Given the description of an element on the screen output the (x, y) to click on. 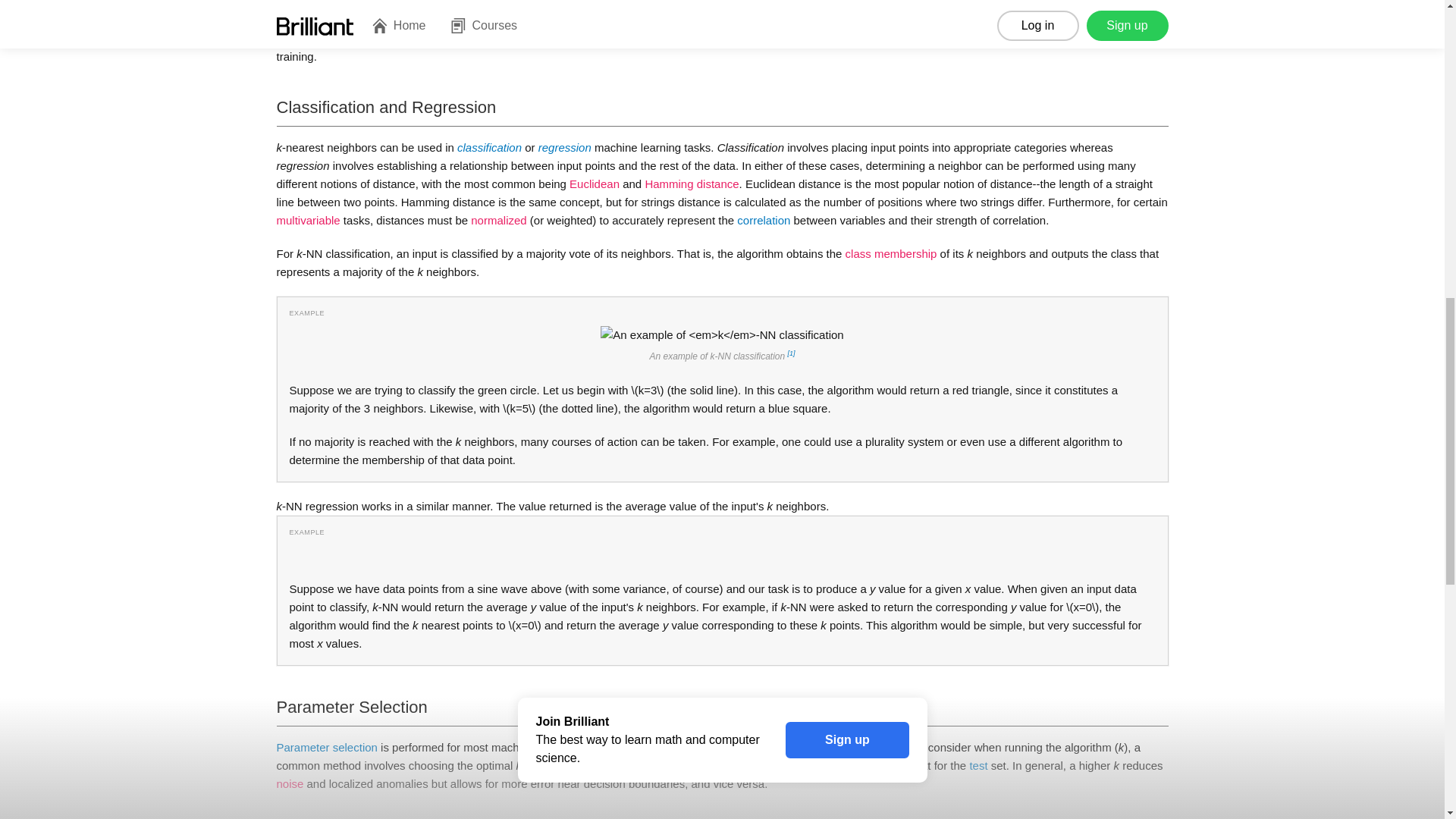
eager learning (312, 19)
page not yet created (1001, 4)
training phase (1001, 4)
page not yet created (497, 219)
testing phase (813, 4)
lazy learning (464, 4)
page not yet created (594, 183)
lazy learning (464, 4)
regression (564, 146)
testing phase (813, 4)
